Given the description of an element on the screen output the (x, y) to click on. 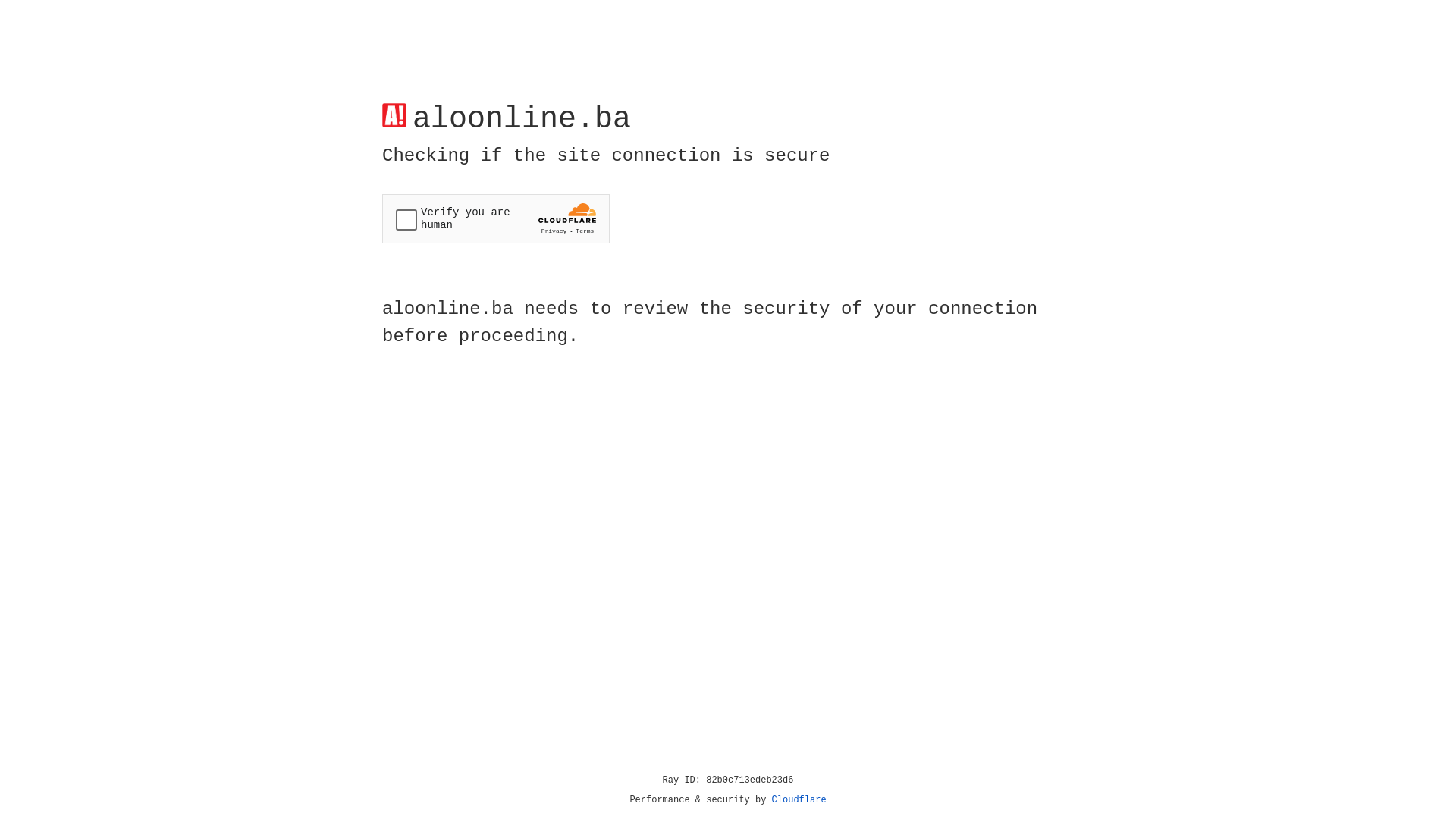
Cloudflare Element type: text (798, 799)
Widget containing a Cloudflare security challenge Element type: hover (495, 218)
